Given the description of an element on the screen output the (x, y) to click on. 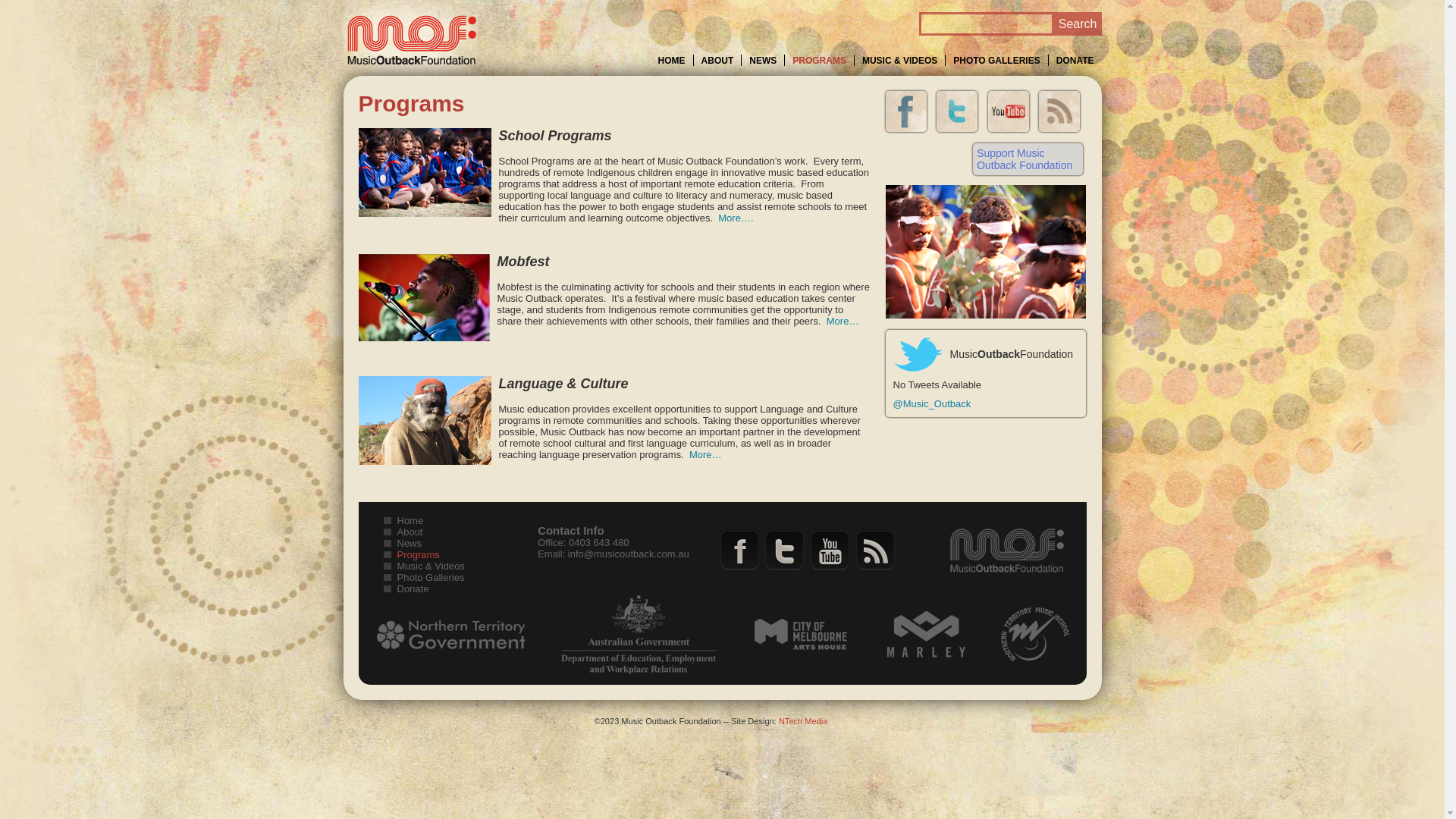
TommyT Element type: hover (423, 420)
PHOTO GALLERIES Element type: text (996, 60)
Programs Element type: text (418, 554)
@Music_Outback Element type: text (932, 403)
About Element type: text (410, 531)
Home Element type: text (410, 520)
News Element type: text (409, 543)
Donate Element type: text (413, 588)
Photo Galleries Element type: text (430, 577)
Music & Videos Element type: text (430, 565)
MUSIC & VIDEOS Element type: text (899, 60)
mobfest Element type: hover (423, 297)
HOME Element type: text (671, 60)
DONATE Element type: text (1075, 60)
Support Music
Outback Foundation Element type: text (1027, 159)
PROGRAMS Element type: text (819, 60)
info@musicoutback.com.au Element type: text (628, 553)
ABOUT Element type: text (717, 60)
Search Element type: text (1077, 23)
NEWS Element type: text (762, 60)
NTech Media Element type: text (802, 720)
TiTreeSchoolPrograms Element type: hover (423, 172)
